Given the description of an element on the screen output the (x, y) to click on. 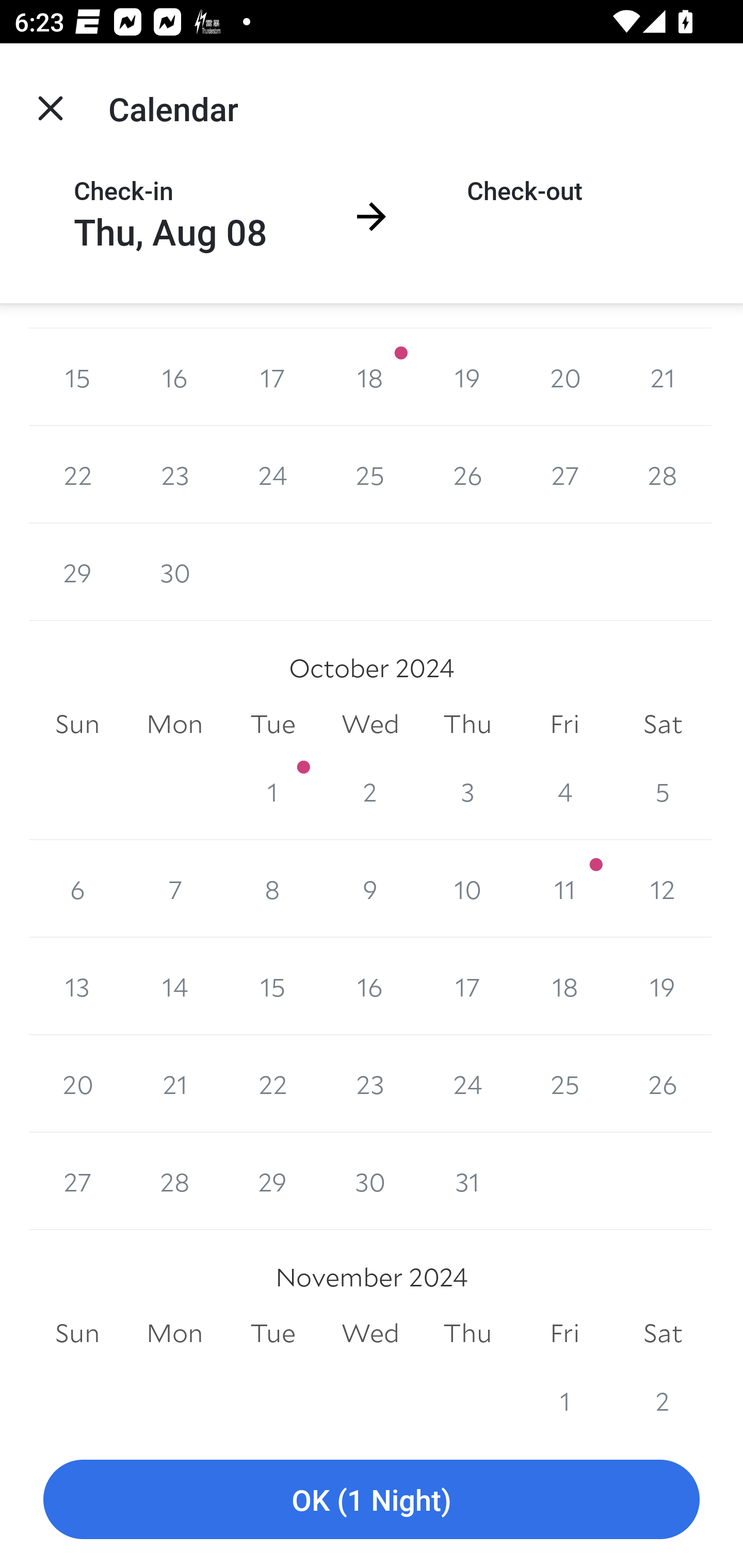
15 15 September 2024 (77, 377)
16 16 September 2024 (174, 377)
17 17 September 2024 (272, 377)
18 18 September 2024 (370, 377)
19 19 September 2024 (467, 377)
20 20 September 2024 (564, 377)
21 21 September 2024 (662, 377)
22 22 September 2024 (77, 474)
23 23 September 2024 (174, 474)
24 24 September 2024 (272, 474)
25 25 September 2024 (370, 474)
26 26 September 2024 (467, 474)
27 27 September 2024 (564, 474)
28 28 September 2024 (662, 474)
29 29 September 2024 (77, 571)
30 30 September 2024 (174, 571)
Sun (77, 724)
Mon (174, 724)
Tue (272, 724)
Wed (370, 724)
Thu (467, 724)
Fri (564, 724)
Sat (662, 724)
1 1 October 2024 (272, 791)
2 2 October 2024 (370, 791)
3 3 October 2024 (467, 791)
4 4 October 2024 (564, 791)
5 5 October 2024 (662, 791)
6 6 October 2024 (77, 888)
7 7 October 2024 (174, 888)
8 8 October 2024 (272, 888)
9 9 October 2024 (370, 888)
10 10 October 2024 (467, 888)
11 11 October 2024 (564, 888)
12 12 October 2024 (662, 888)
13 13 October 2024 (77, 985)
14 14 October 2024 (174, 985)
15 15 October 2024 (272, 985)
16 16 October 2024 (370, 985)
17 17 October 2024 (467, 985)
18 18 October 2024 (564, 985)
19 19 October 2024 (662, 985)
20 20 October 2024 (77, 1083)
21 21 October 2024 (174, 1083)
22 22 October 2024 (272, 1083)
23 23 October 2024 (370, 1083)
24 24 October 2024 (467, 1083)
25 25 October 2024 (564, 1083)
26 26 October 2024 (662, 1083)
27 27 October 2024 (77, 1181)
28 28 October 2024 (174, 1181)
29 29 October 2024 (272, 1181)
30 30 October 2024 (370, 1181)
31 31 October 2024 (467, 1181)
Sun (77, 1332)
Mon (174, 1332)
Tue (272, 1332)
Wed (370, 1332)
Thu (467, 1332)
Fri (564, 1332)
Sat (662, 1332)
OK (1 Night) (371, 1499)
